Given the description of an element on the screen output the (x, y) to click on. 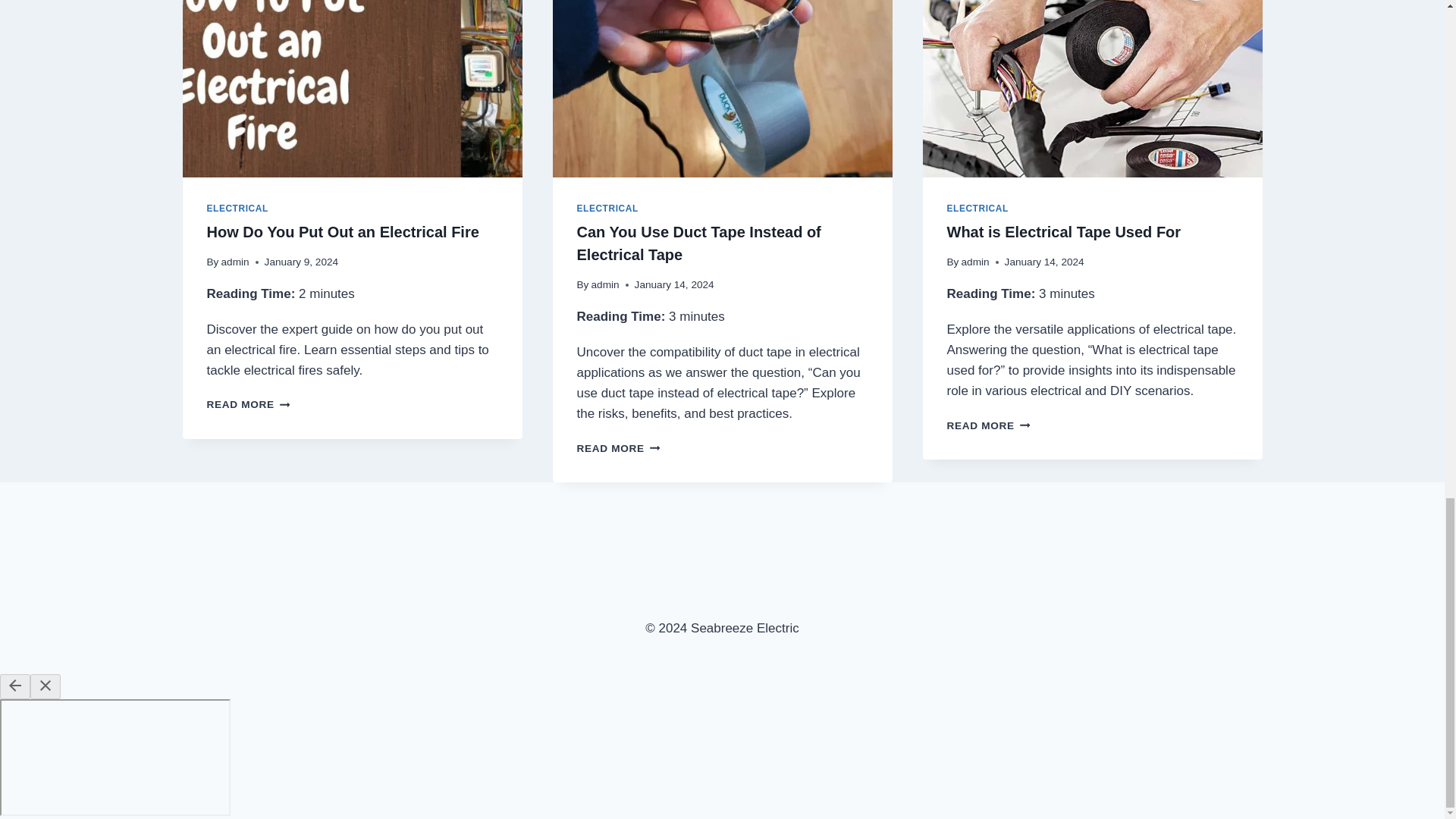
ELECTRICAL (236, 208)
How Do You Put Out an Electrical Fire (342, 231)
